Given the description of an element on the screen output the (x, y) to click on. 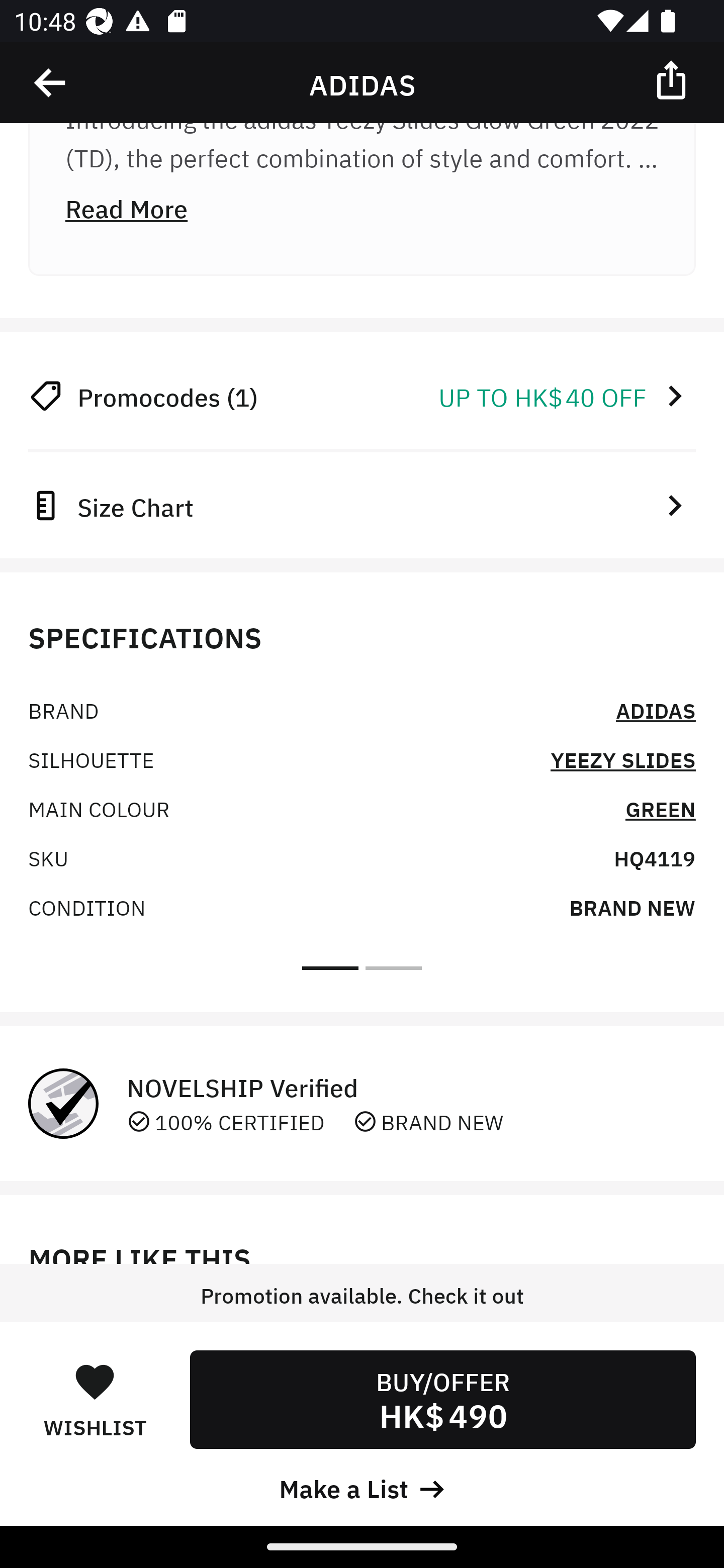
 (50, 83)
 (672, 79)
Promocodes (1) UP TO HK$ 40 OFF  (361, 395)
Size Chart  (361, 505)
ADIDAS (655, 709)
YEEZY SLIDES (622, 758)
GREEN (660, 808)
HQ4119 (654, 857)
BRAND NEW (632, 906)
BUY/OFFER HK$ 490 (442, 1399)
󰋑 (94, 1380)
Make a List (361, 1486)
